Given the description of an element on the screen output the (x, y) to click on. 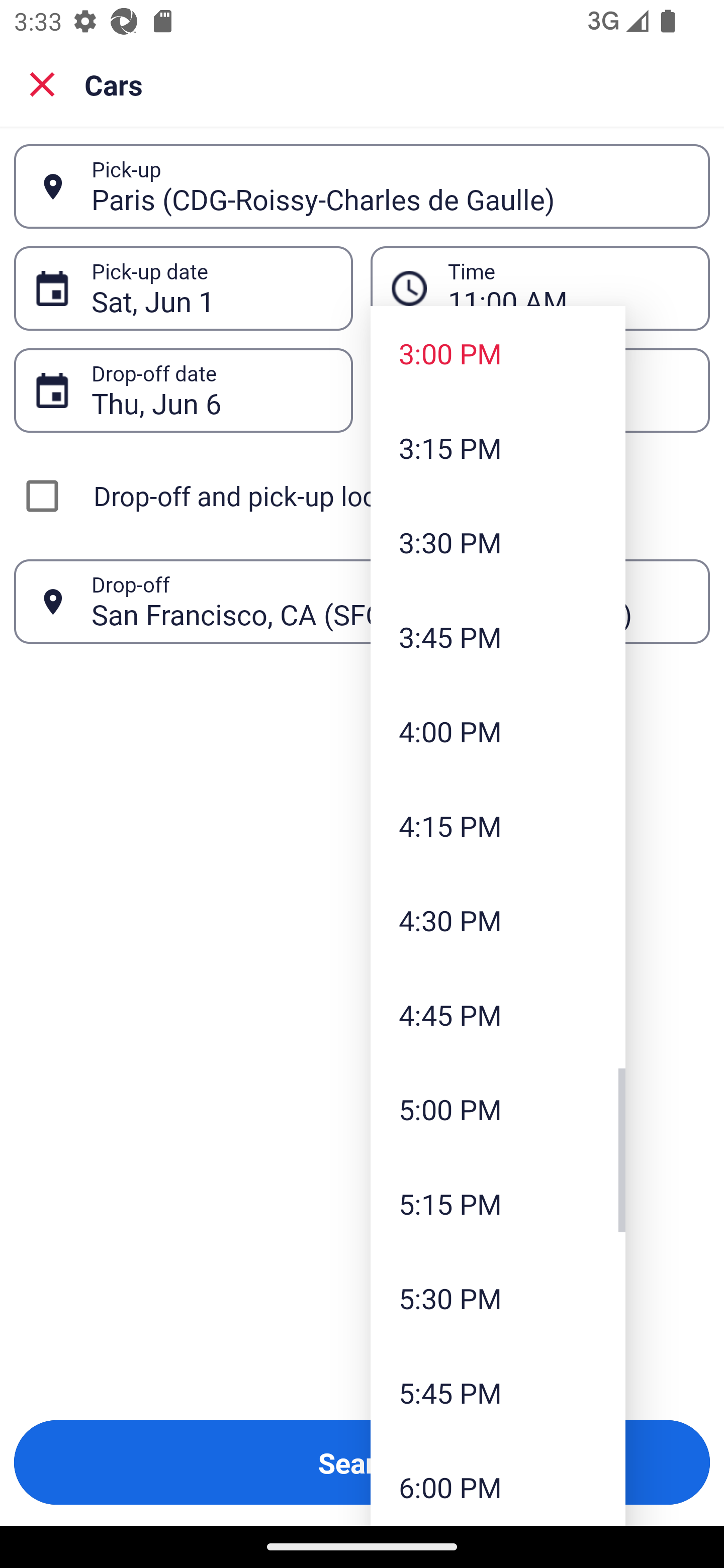
3:00 PM (497, 352)
3:15 PM (497, 447)
3:30 PM (497, 542)
3:45 PM (497, 636)
4:00 PM (497, 730)
4:15 PM (497, 825)
4:30 PM (497, 920)
4:45 PM (497, 1014)
5:00 PM (497, 1109)
5:15 PM (497, 1204)
5:30 PM (497, 1298)
5:45 PM (497, 1392)
6:00 PM (497, 1482)
